Given the description of an element on the screen output the (x, y) to click on. 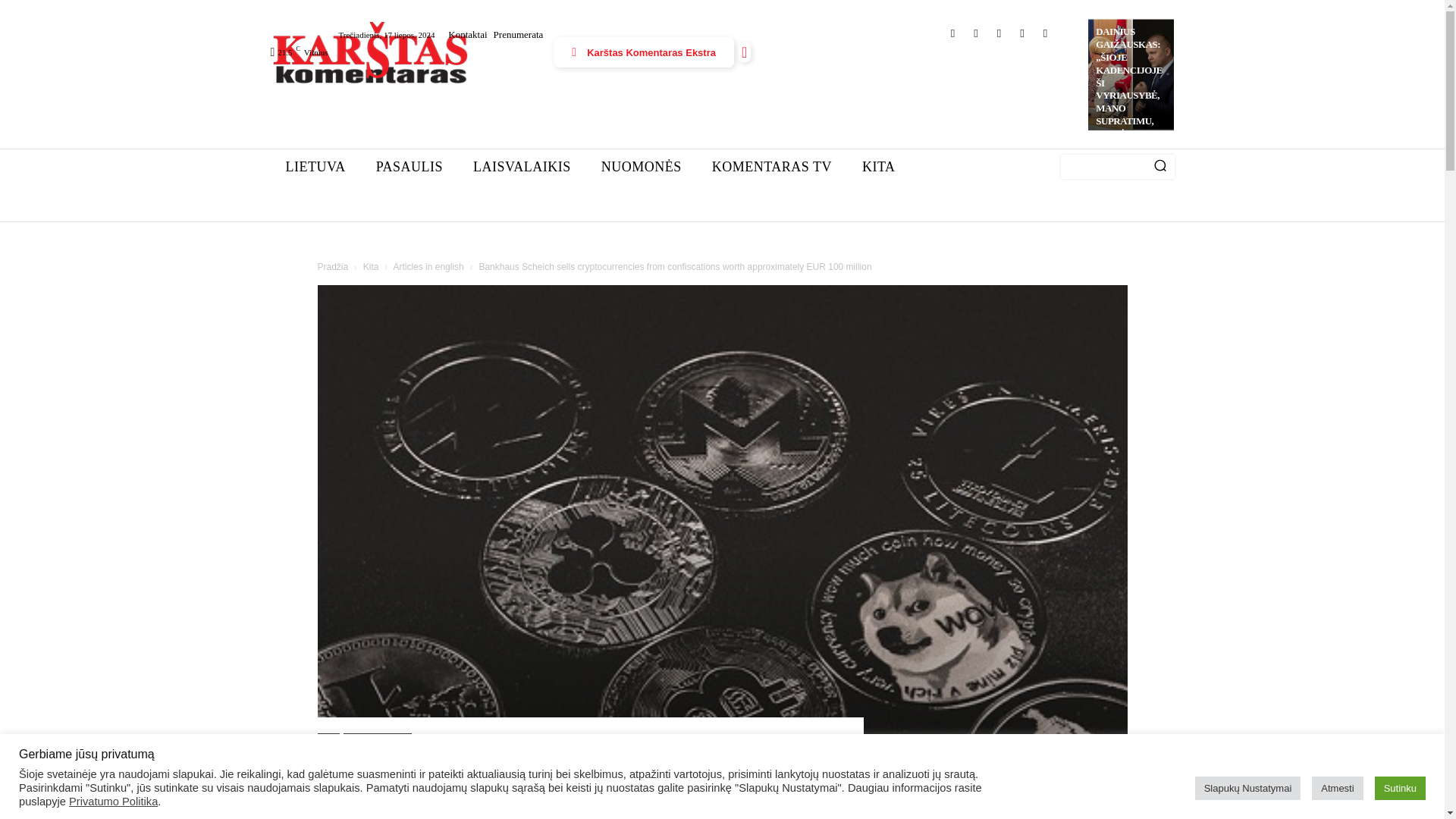
Twitter (998, 33)
Prenumerata (518, 33)
Facebook (951, 33)
Youtube (976, 33)
Kontaktai (467, 33)
Patreon (1021, 33)
Advertisement (781, 91)
Flickr (1045, 33)
